Given the description of an element on the screen output the (x, y) to click on. 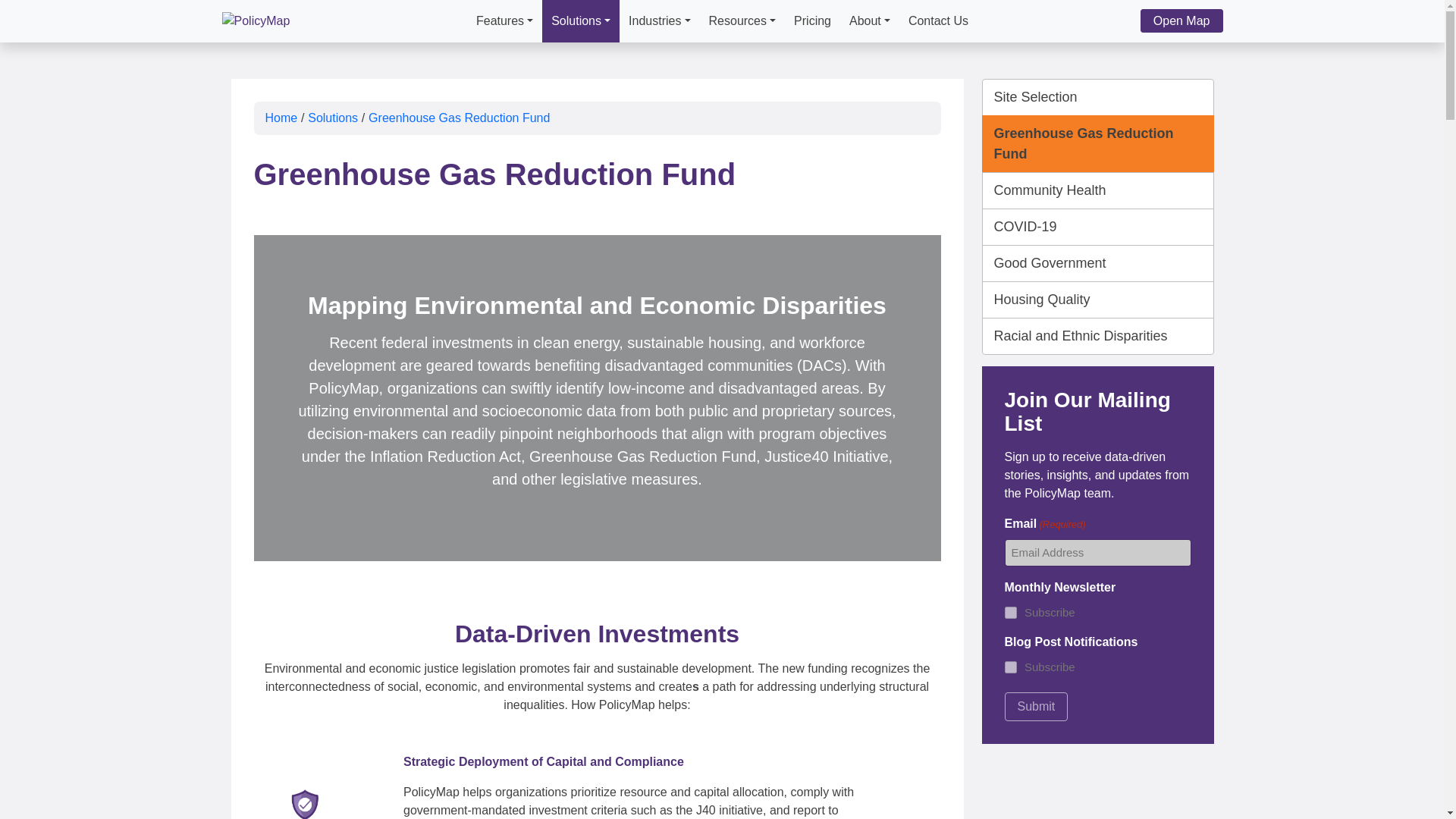
Features (504, 21)
Submit (1035, 706)
Pricing (812, 21)
TRUE (1010, 666)
TRUE (1010, 612)
Solutions (580, 21)
About (869, 21)
Resources (743, 21)
Industries (659, 21)
